Given the description of an element on the screen output the (x, y) to click on. 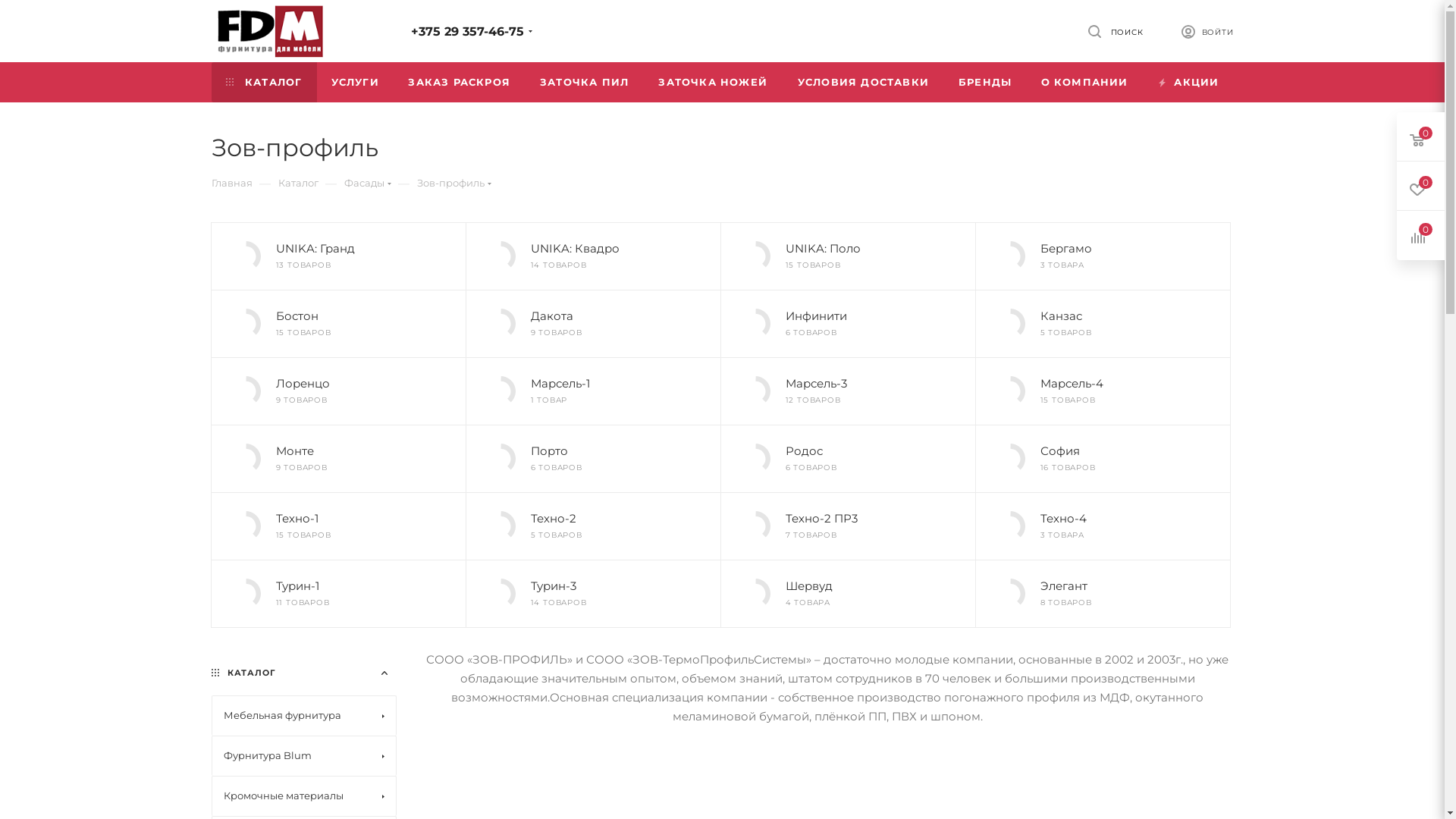
+375 29 357-46-75 Element type: text (467, 31)
